Given the description of an element on the screen output the (x, y) to click on. 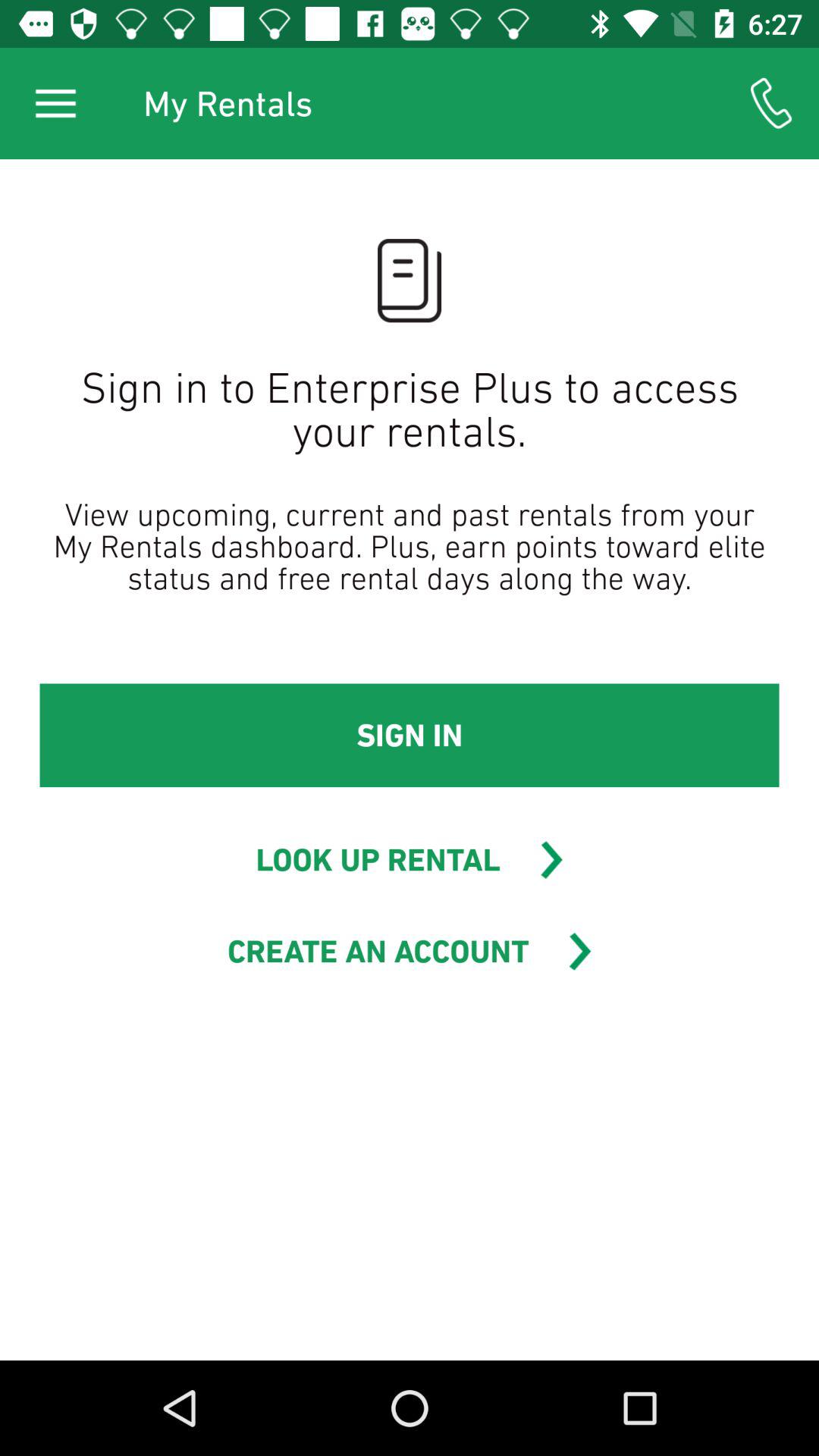
choose the icon below look up rental item (377, 951)
